Given the description of an element on the screen output the (x, y) to click on. 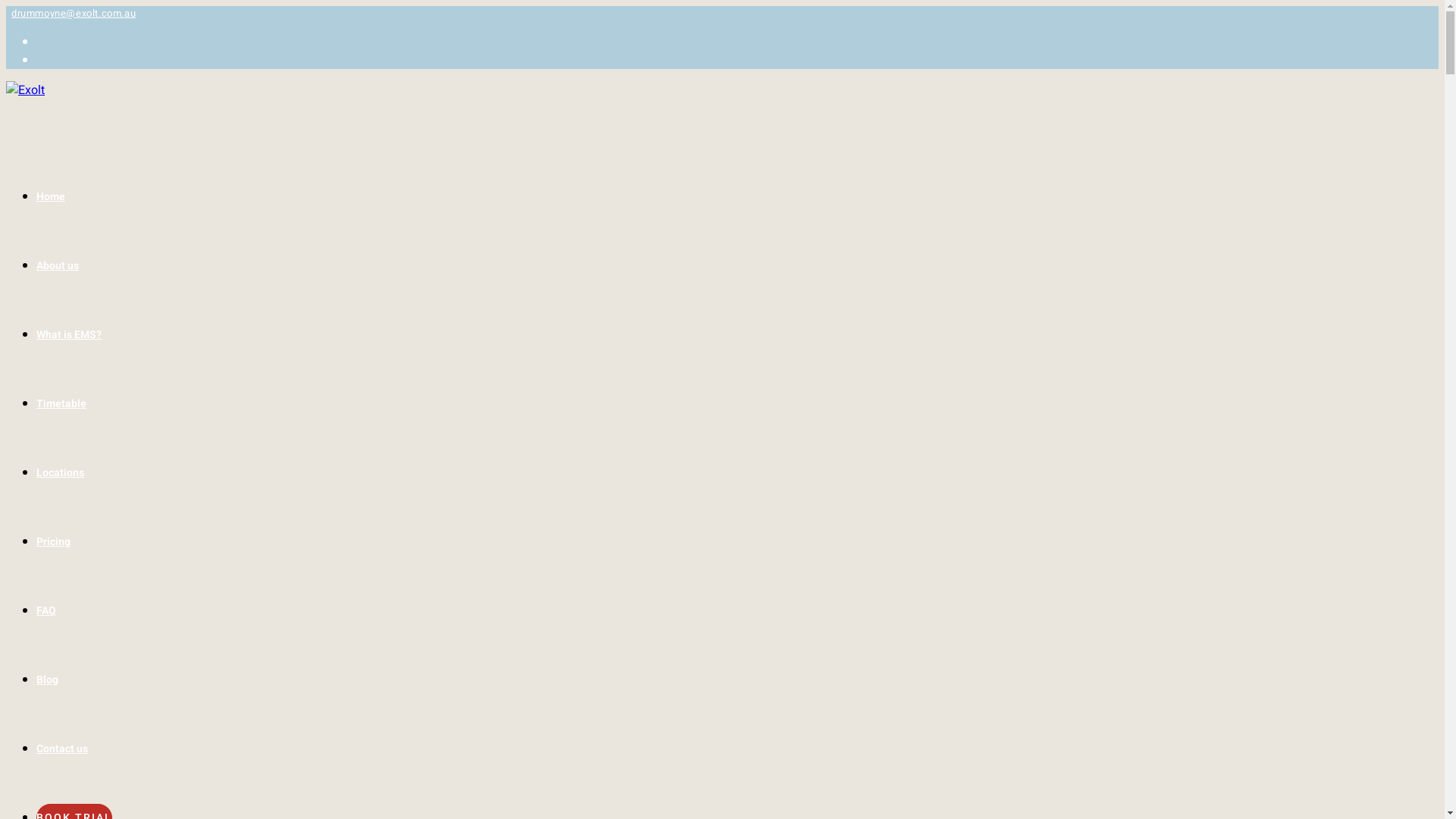
FAQ Element type: text (46, 610)
drummoyne@exolt.com.au Element type: text (73, 13)
Skip to content Element type: text (5, 5)
Home Element type: text (50, 196)
Pricing Element type: text (53, 541)
Timetable Element type: text (61, 403)
What is EMS? Element type: text (68, 334)
About us Element type: text (57, 265)
Locations Element type: text (60, 472)
Contact us Element type: text (61, 748)
Blog Element type: text (47, 679)
